Given the description of an element on the screen output the (x, y) to click on. 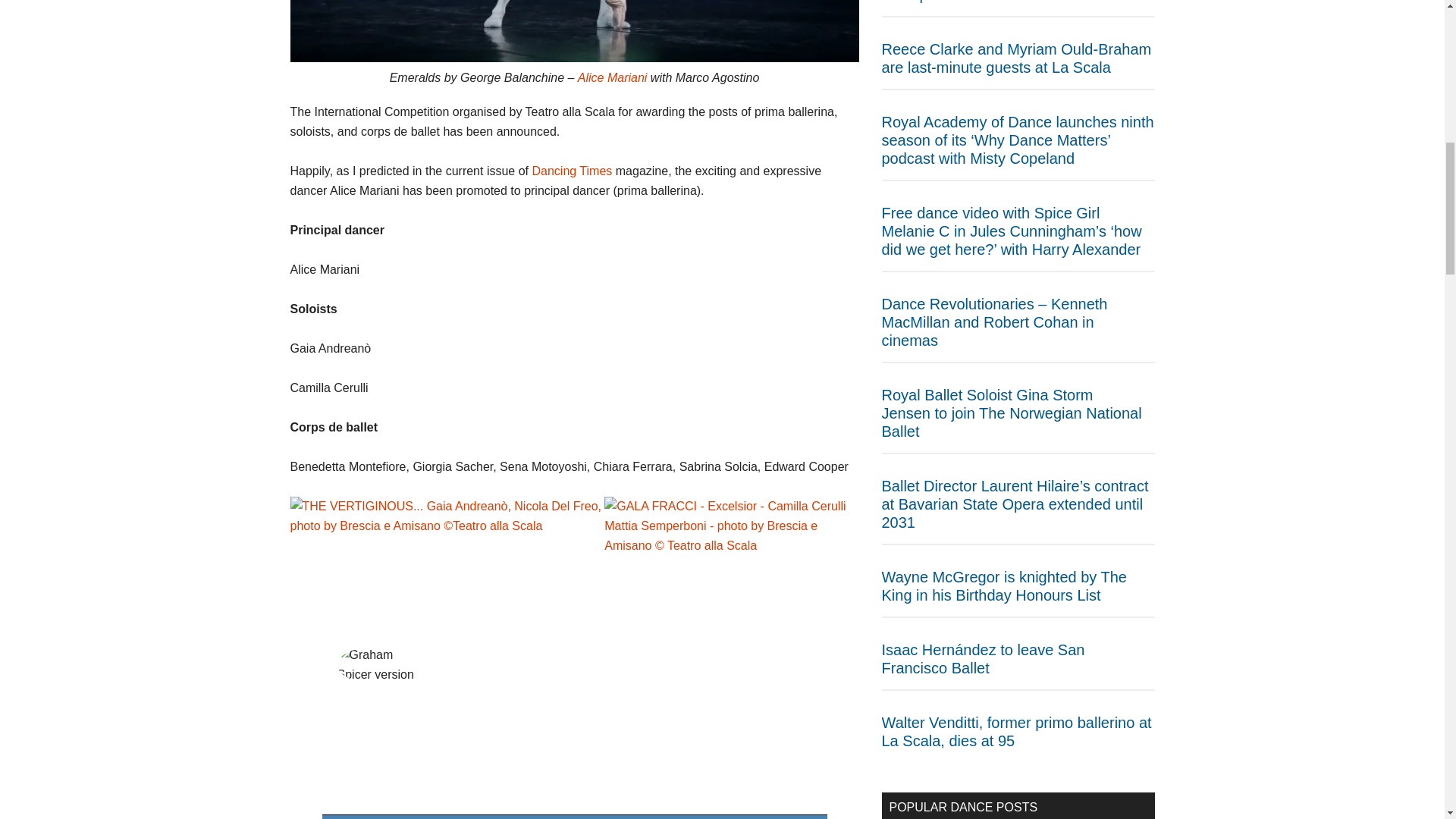
Graham Spicer version (382, 664)
Dancing Times (571, 170)
Posts tagged with Dancing Times (571, 170)
Emeralds by George Balanchine Alice Mariani Marco Agostino (574, 31)
Posts tagged with Alice Mariani (612, 77)
Alice Mariani (612, 77)
